Given the description of an element on the screen output the (x, y) to click on. 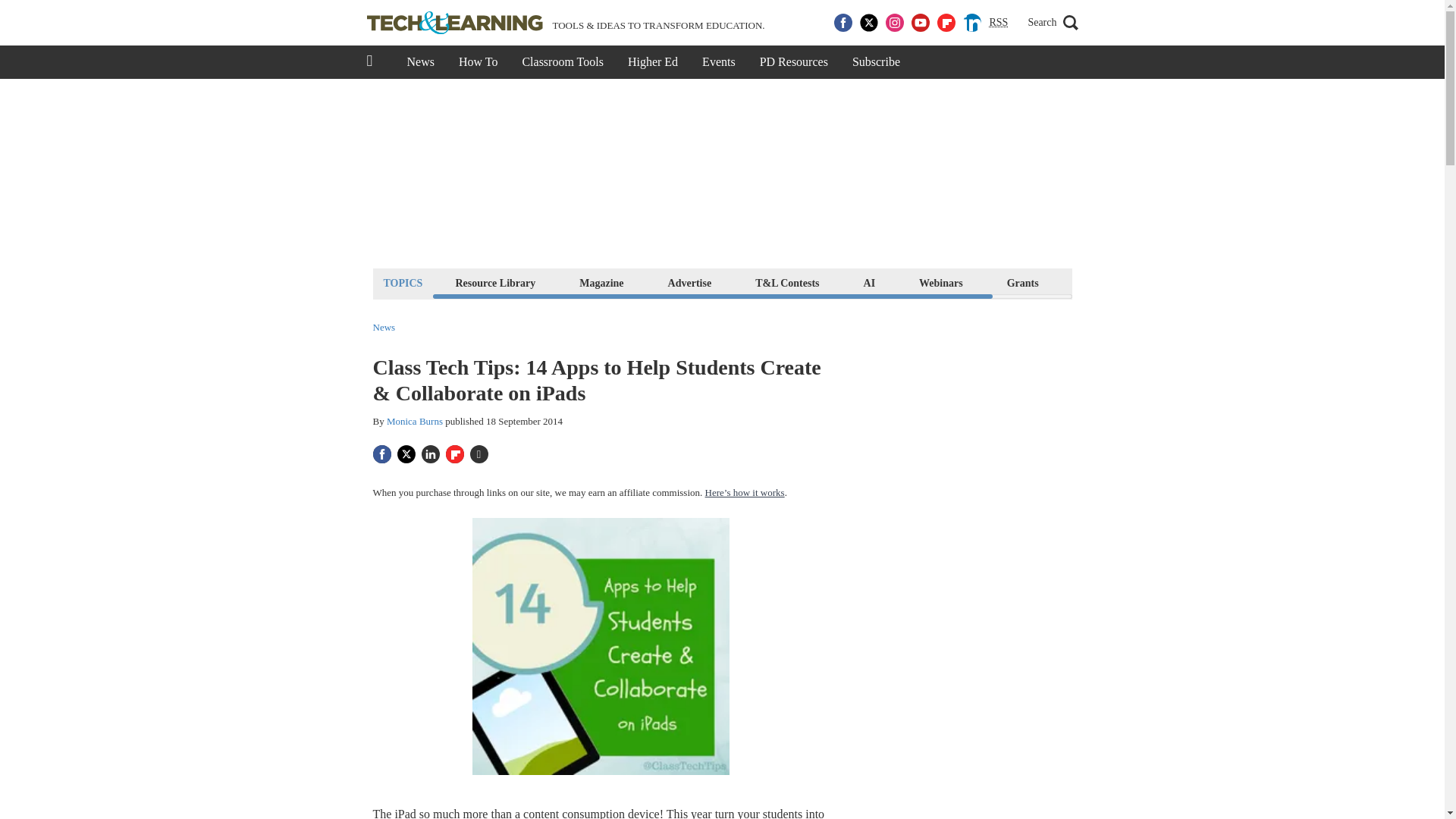
Resource Library (494, 282)
How To (477, 61)
Monica Burns (414, 420)
Really Simple Syndication (997, 21)
Advertise (689, 282)
What to Buy (1111, 282)
Classroom Tools (561, 61)
Subscribe (876, 61)
Higher Ed (652, 61)
Magazine (600, 282)
